Given the description of an element on the screen output the (x, y) to click on. 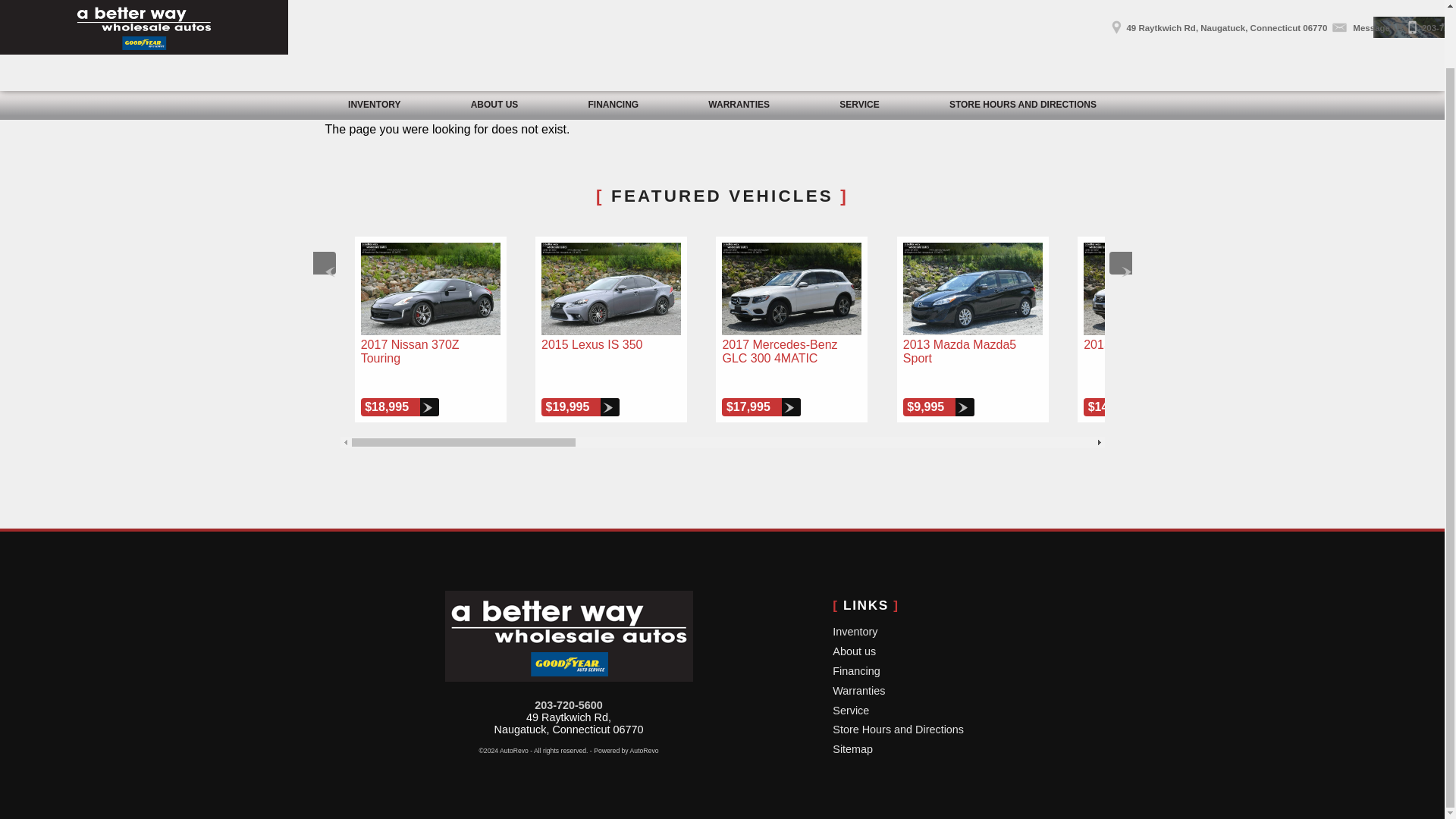
2015 Lexus RX 350 in Naugatuck, Connecticut 06770 (1153, 288)
2015 Lexus IS 350 in Naugatuck, Connecticut 06770 (611, 288)
INVENTORY (374, 41)
ABOUT US (494, 41)
SERVICE (859, 41)
2013 Mazda Mazda5 Sport in Naugatuck, Connecticut 06770 (972, 288)
FINANCING (612, 41)
WARRANTIES (739, 41)
A Better Way Wholesale Autos-CT (568, 635)
2017 Nissan 370Z Touring in Naugatuck, Connecticut 06770 (430, 288)
